Given the description of an element on the screen output the (x, y) to click on. 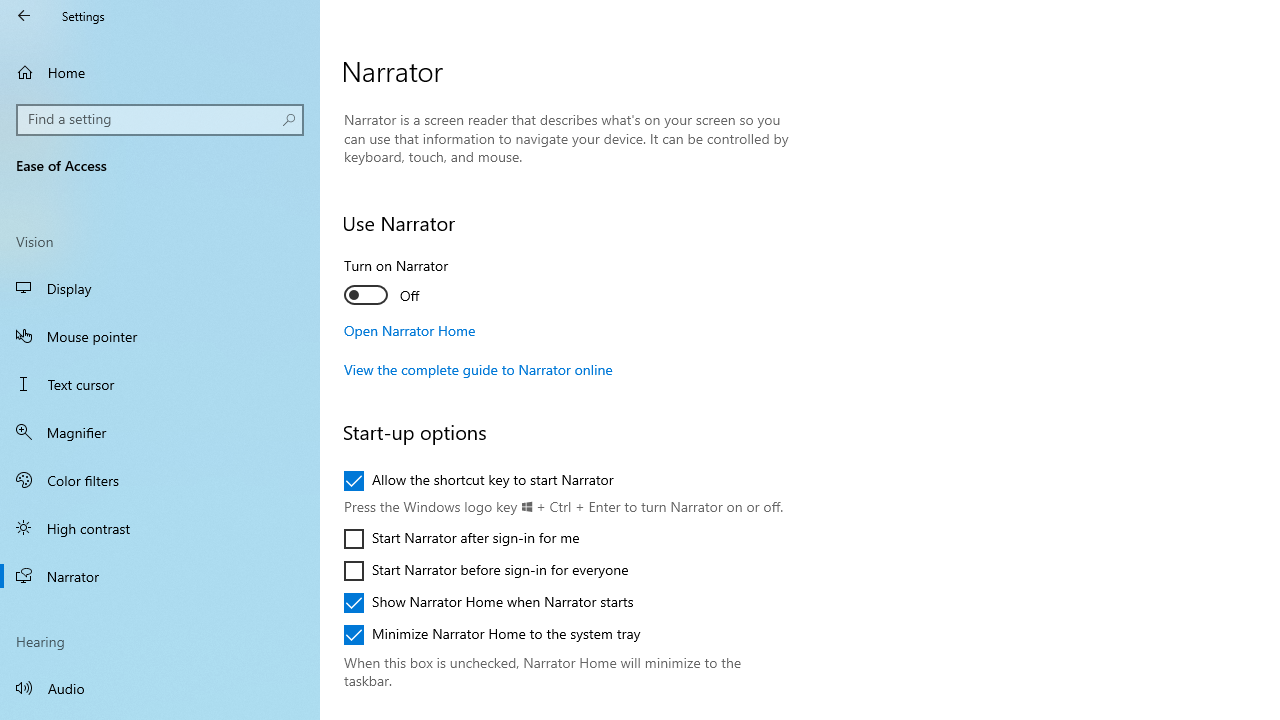
Audio (160, 687)
Minimize Narrator Home to the system tray (492, 634)
Mouse pointer (160, 335)
View the complete guide to Narrator online (478, 369)
